Given the description of an element on the screen output the (x, y) to click on. 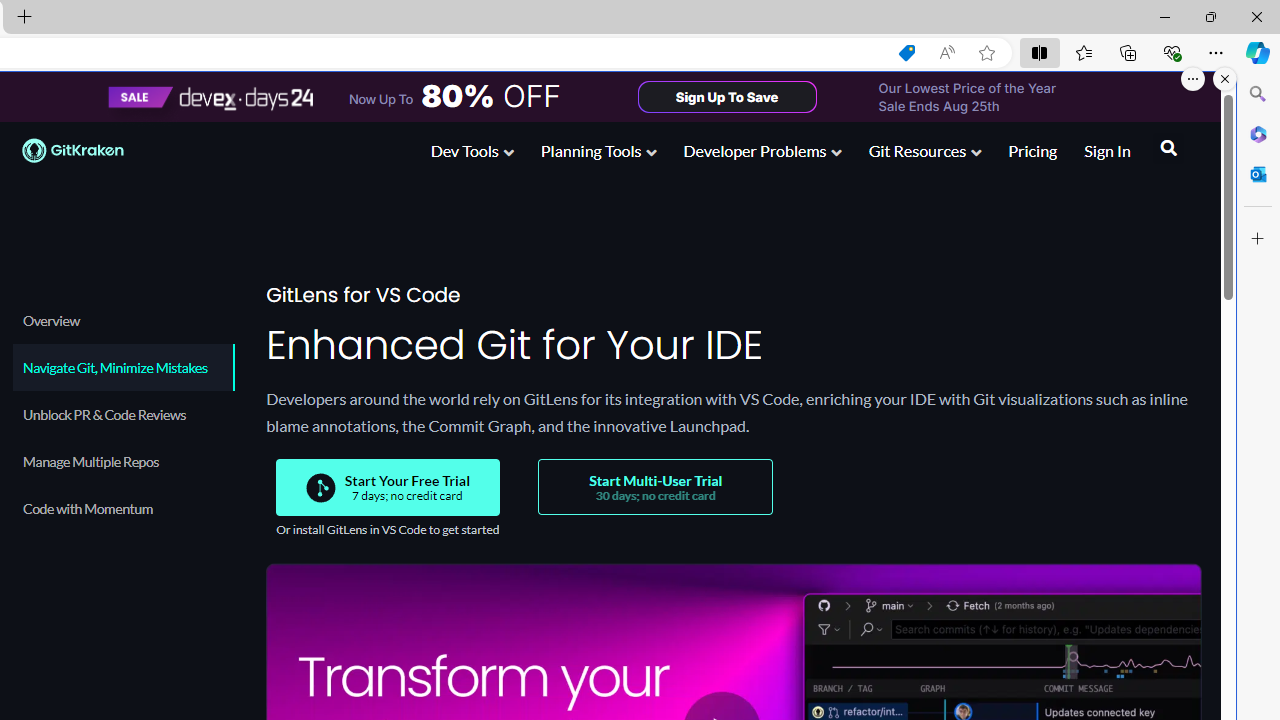
Sign In (1107, 152)
Close split screen. (1225, 79)
Start Your Free Trial 7 days; no credit card (388, 487)
Code with Momentum (123, 508)
Start Multi-User Trial 30 days; no credit card (655, 486)
Sign In (1107, 150)
Navigate Git, Minimize Mistakes (123, 367)
